Given the description of an element on the screen output the (x, y) to click on. 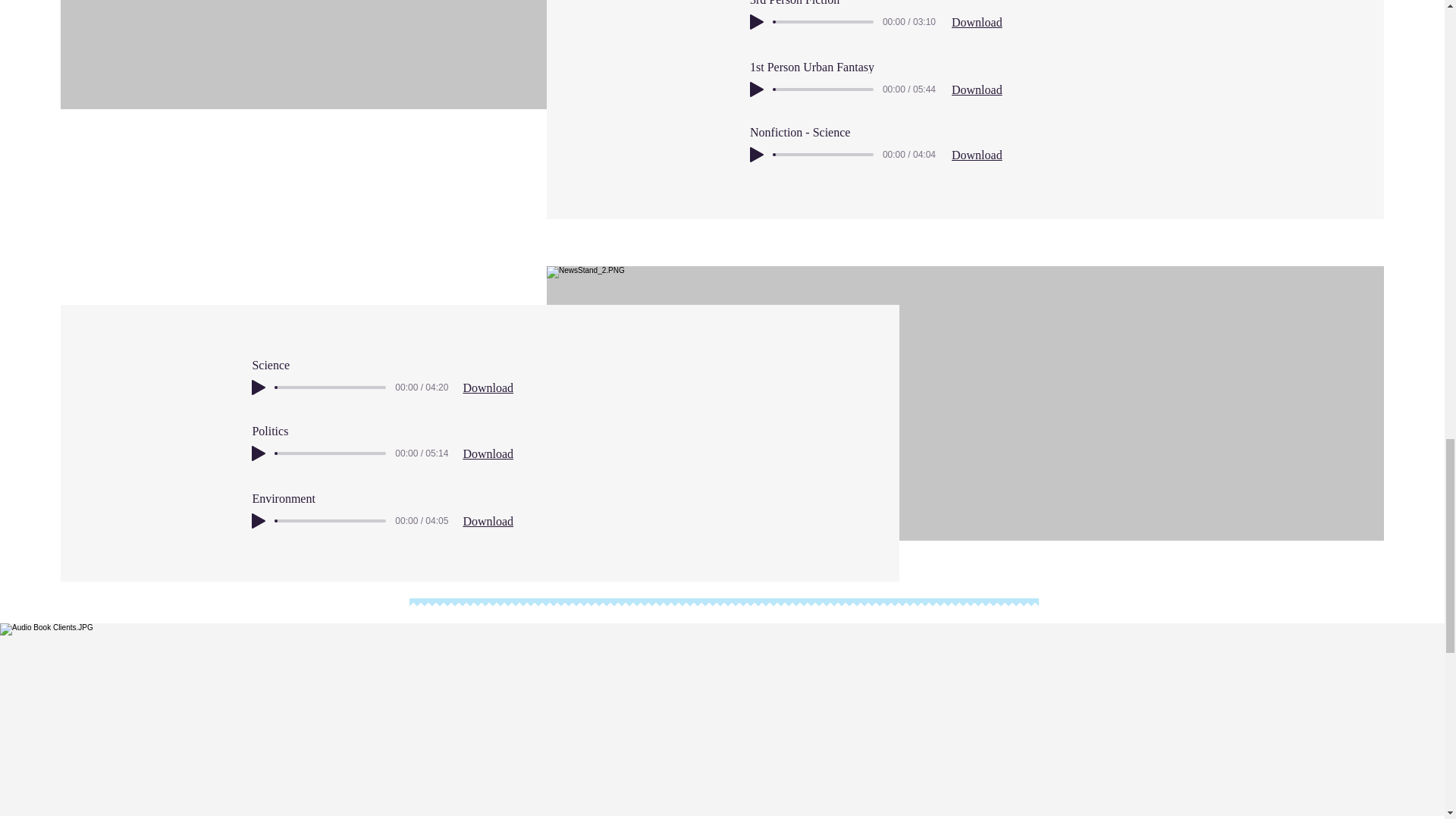
0 (330, 520)
Download (977, 89)
Download (488, 453)
Download (977, 154)
0 (823, 89)
0 (330, 453)
Download (977, 21)
0 (330, 387)
0 (823, 154)
Download (488, 387)
Download (488, 521)
0 (823, 21)
